Given the description of an element on the screen output the (x, y) to click on. 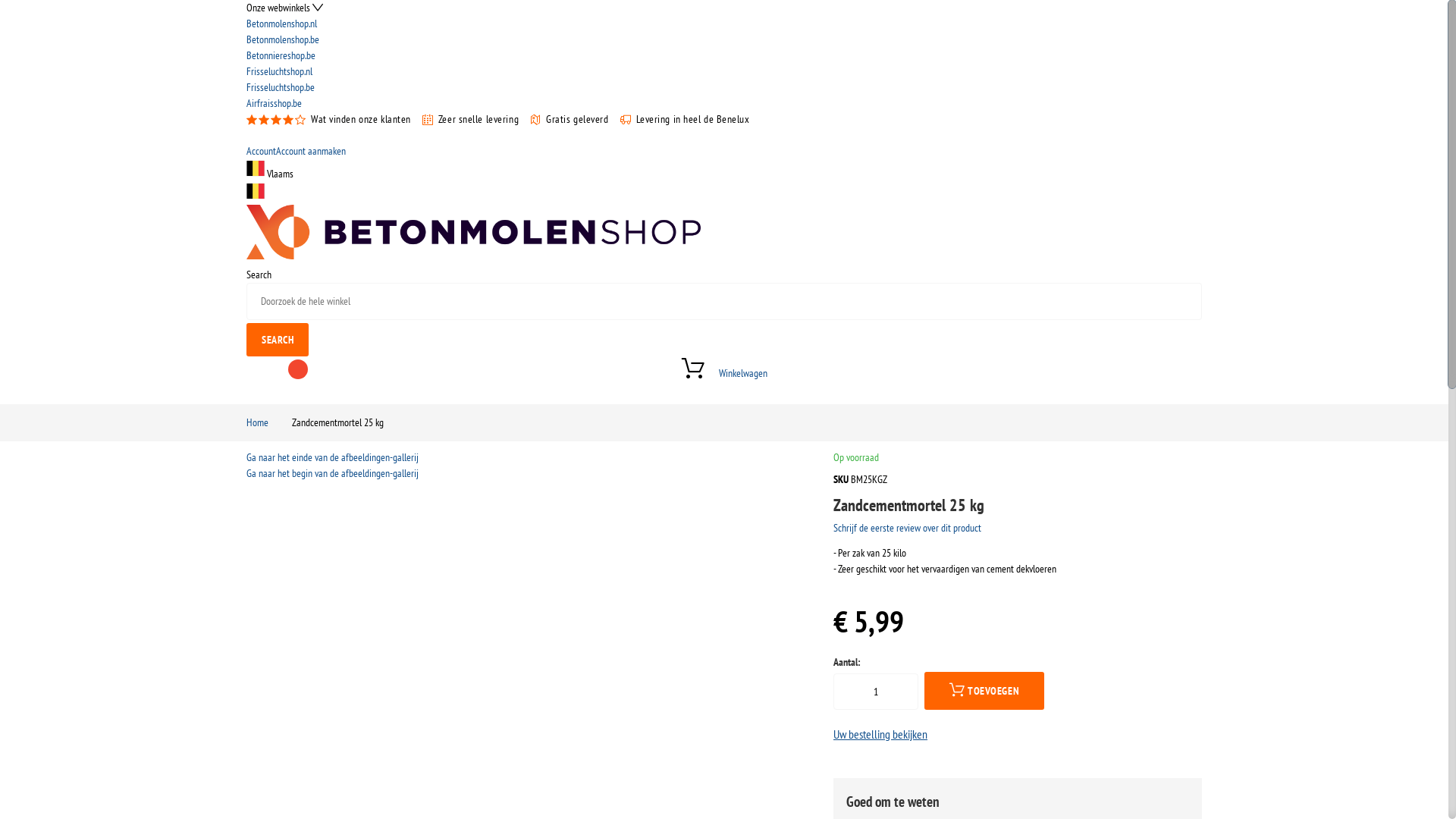
Account Element type: text (261, 150)
Frisseluchtshop.be Element type: text (723, 87)
Ga naar het begin van de afbeeldingen-gallerij Element type: text (332, 473)
SEARCH Element type: text (277, 339)
TOEVOEGEN Element type: text (984, 690)
Betonmolenshop.be Element type: text (723, 39)
Betonmolenshop.nl Element type: text (723, 23)
Welkom bij Betonmolenshop.be Element type: hover (473, 255)
Uw bestelling bekijken Element type: text (880, 733)
Winkelwagen Element type: text (723, 372)
Qty Element type: hover (875, 691)
Home Element type: text (257, 422)
Airfraisshop.be Element type: text (723, 103)
Betonniereshop.be Element type: text (723, 55)
Schrijf de eerste review over dit product Element type: text (907, 527)
Account aanmaken Element type: text (310, 150)
Frisseluchtshop.nl Element type: text (723, 71)
Ga naar het einde van de afbeeldingen-gallerij Element type: text (332, 457)
